Given the description of an element on the screen output the (x, y) to click on. 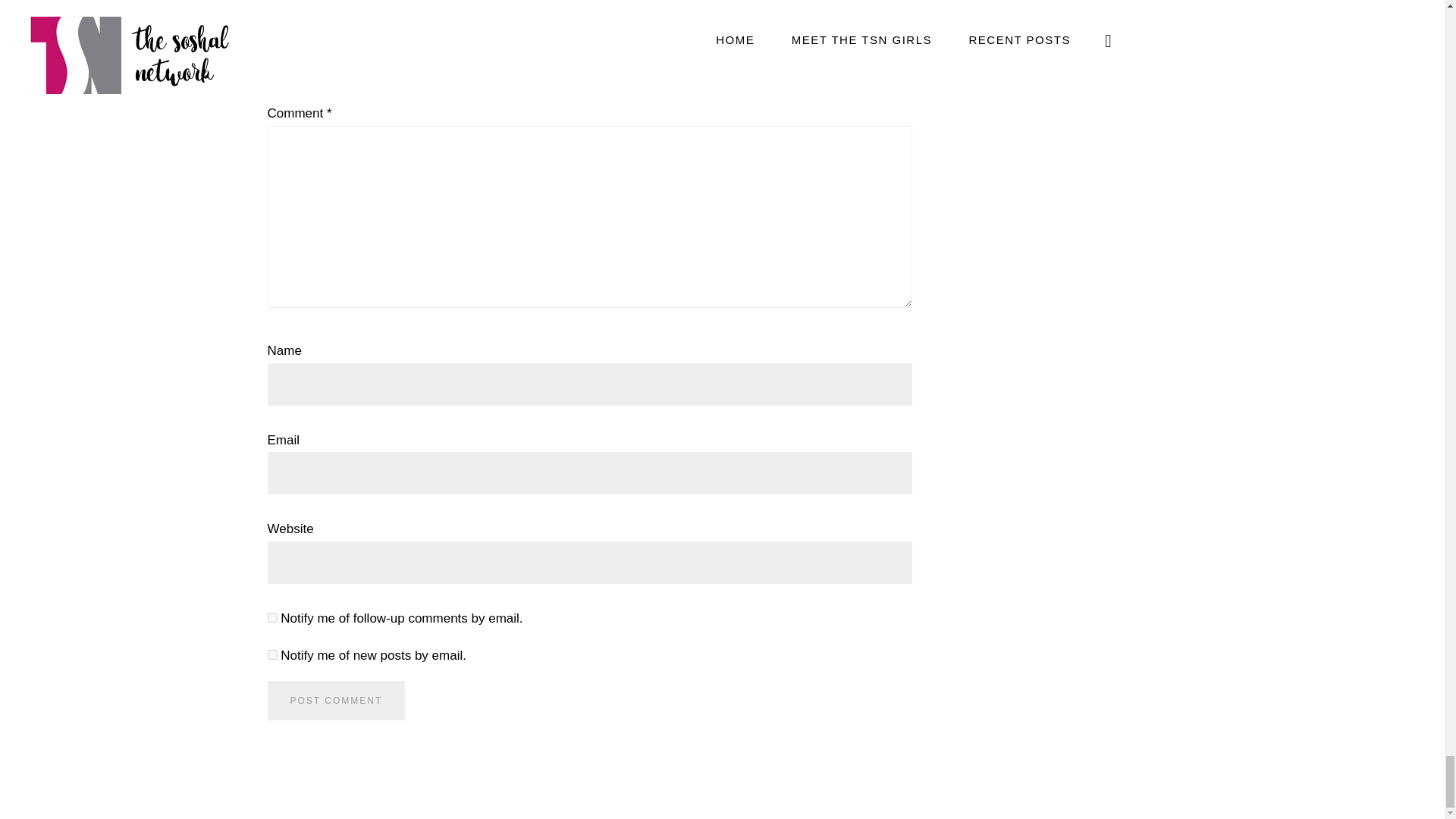
Post Comment (335, 700)
Post Comment (335, 700)
subscribe (271, 655)
subscribe (271, 617)
